Given the description of an element on the screen output the (x, y) to click on. 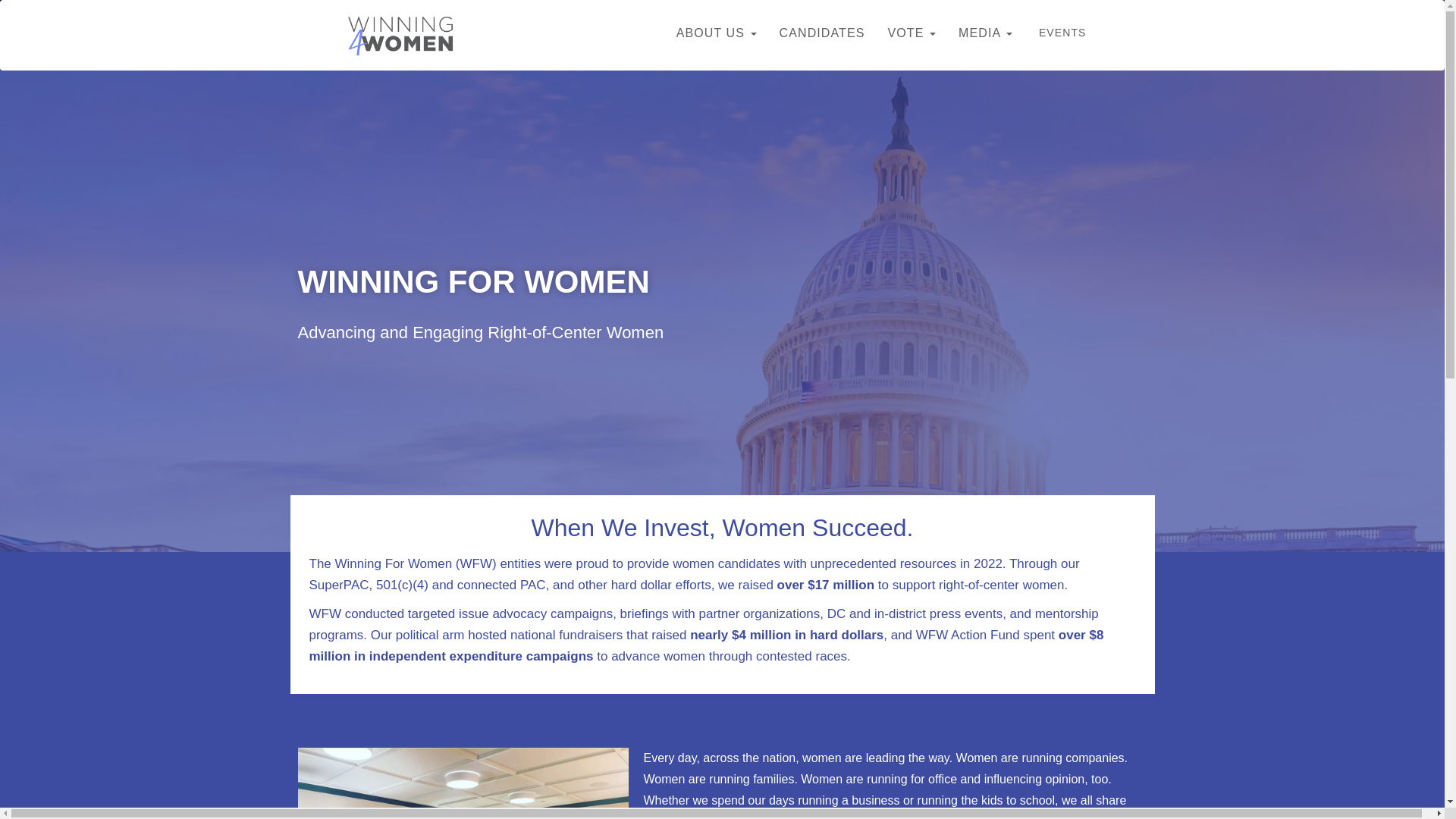
EVENTS (1062, 31)
Winning For Women (399, 34)
CANDIDATES (822, 32)
MEDIA (985, 32)
VOTE (911, 32)
ABOUT US (716, 32)
